Given the description of an element on the screen output the (x, y) to click on. 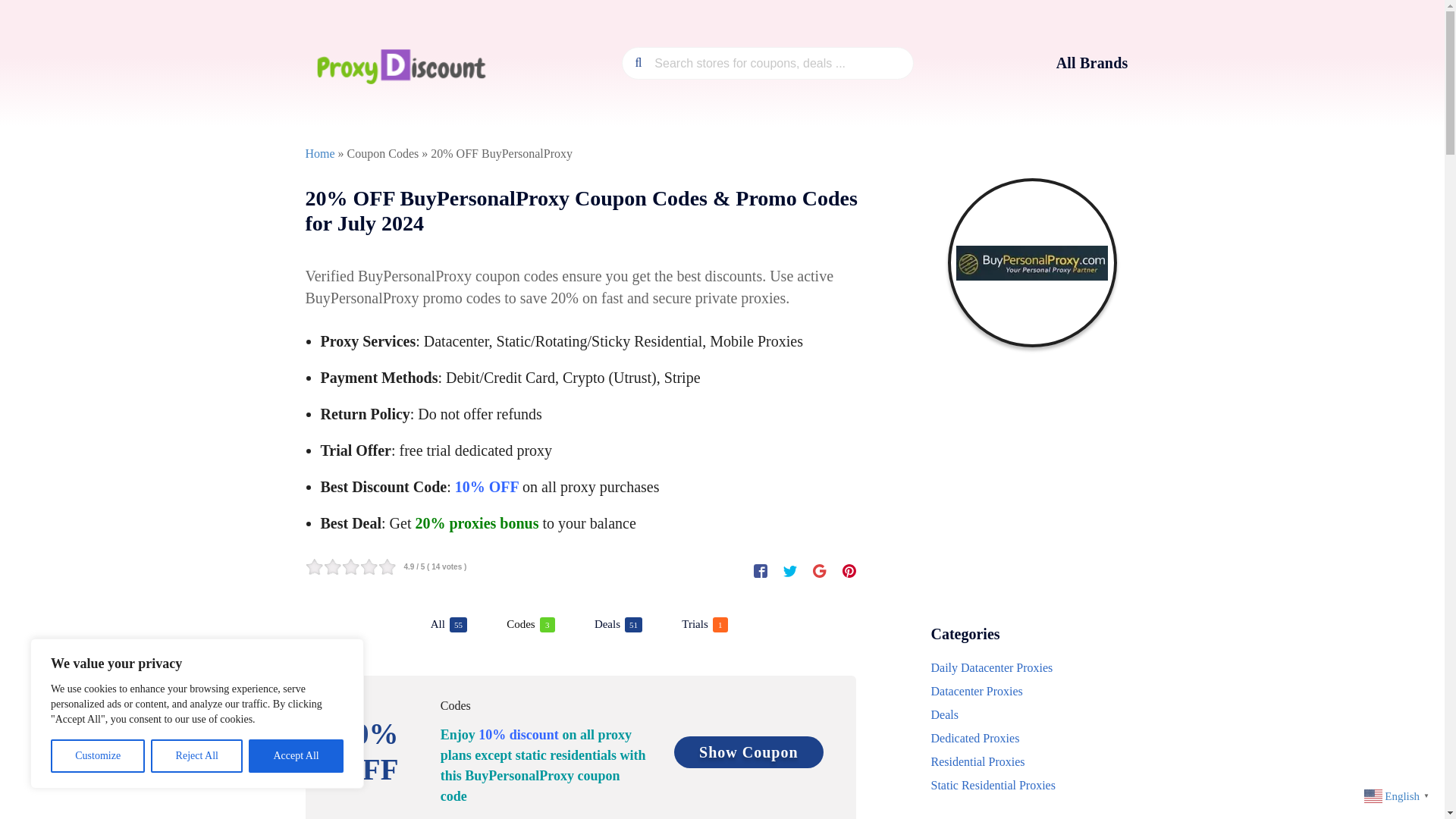
Home (319, 153)
Reject All (197, 756)
Skip to content (704, 625)
Share link on Facebook (295, 756)
Share image on Pinterest (448, 625)
All Brands (530, 625)
BuyPersonalProxy coupon codes (760, 570)
Share link on Twitter (617, 625)
Customize (849, 570)
